Given the description of an element on the screen output the (x, y) to click on. 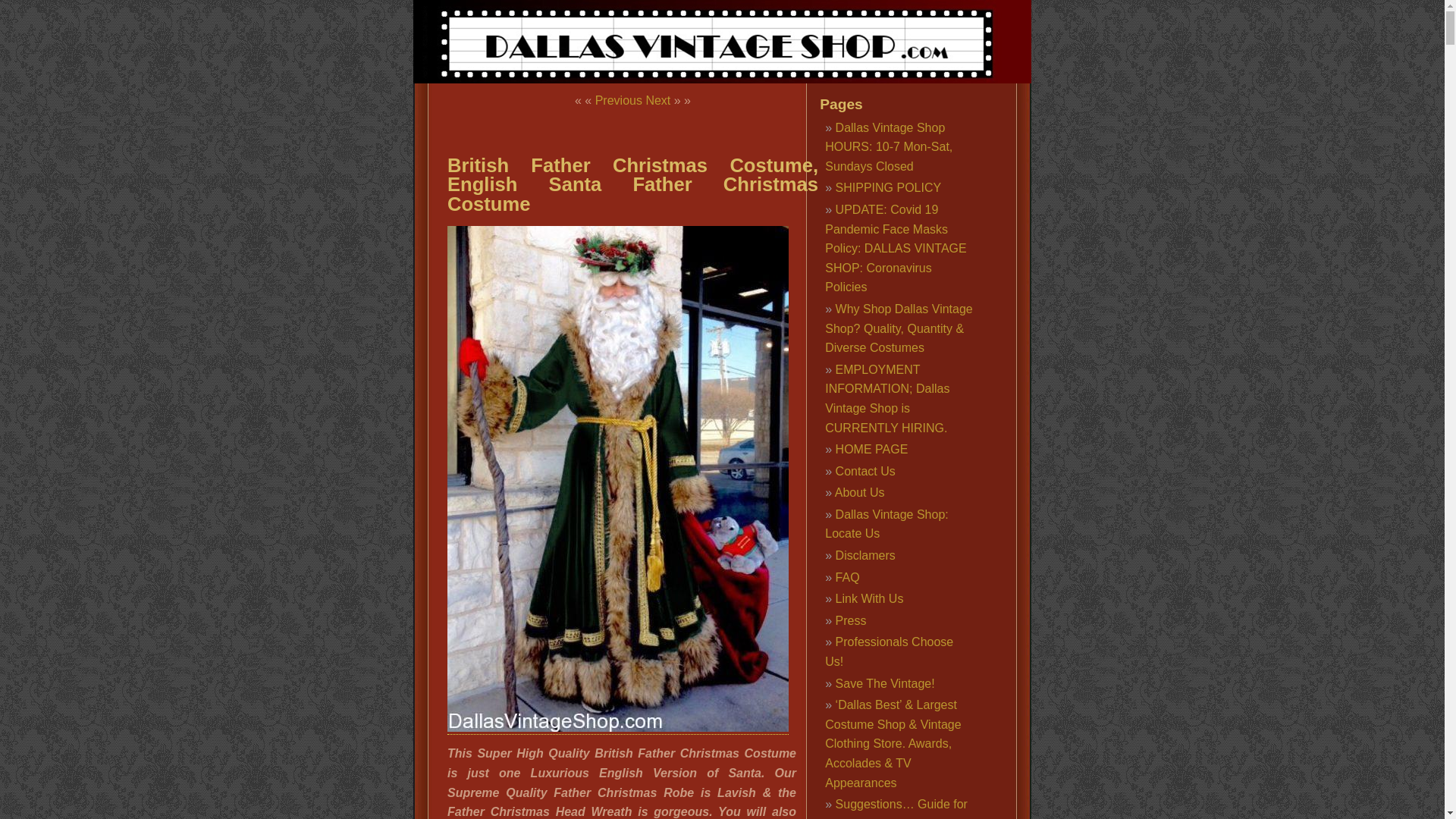
Previous (618, 100)
Next (657, 100)
